Given the description of an element on the screen output the (x, y) to click on. 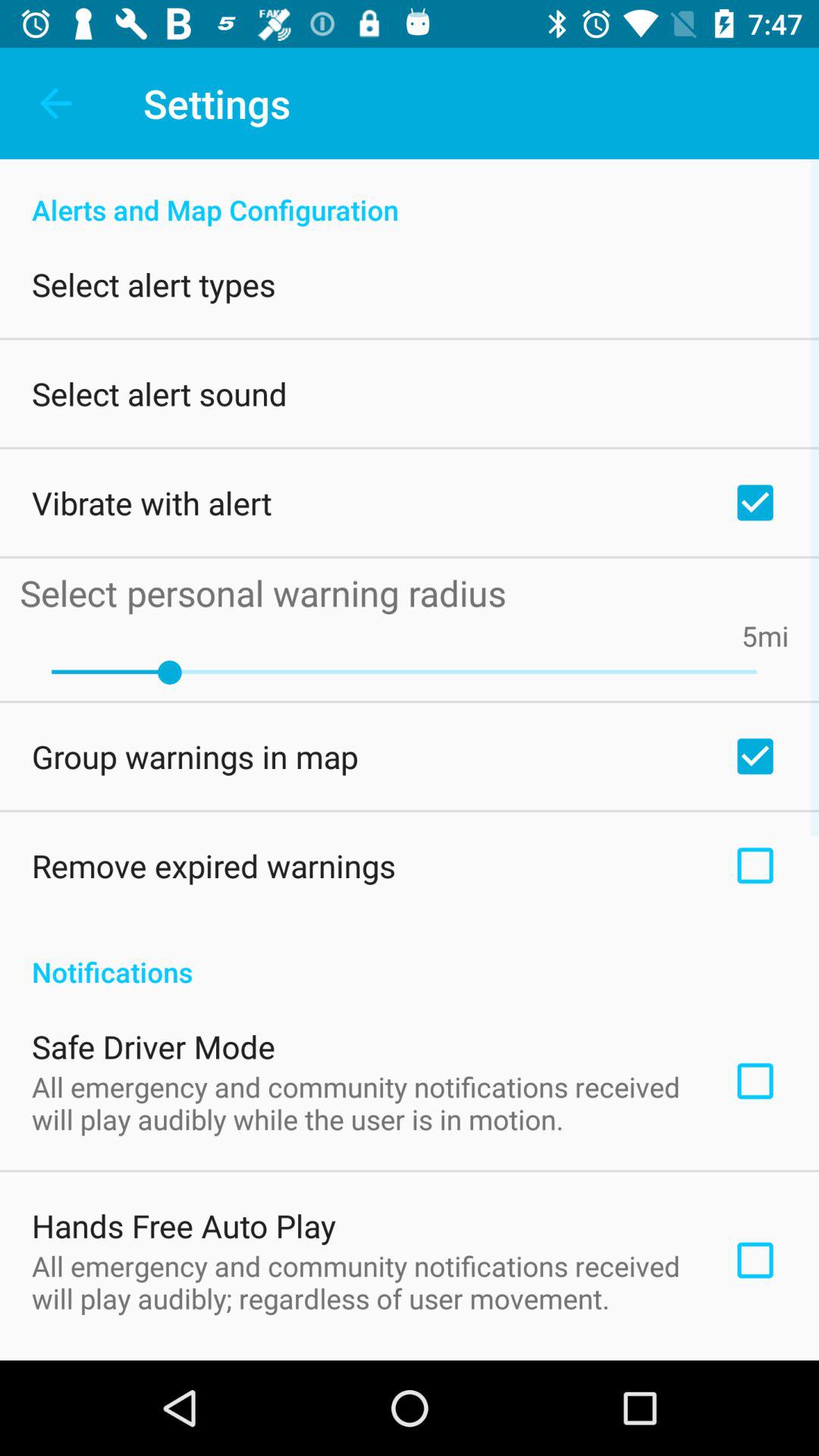
click icon to the left of settings item (55, 103)
